Given the description of an element on the screen output the (x, y) to click on. 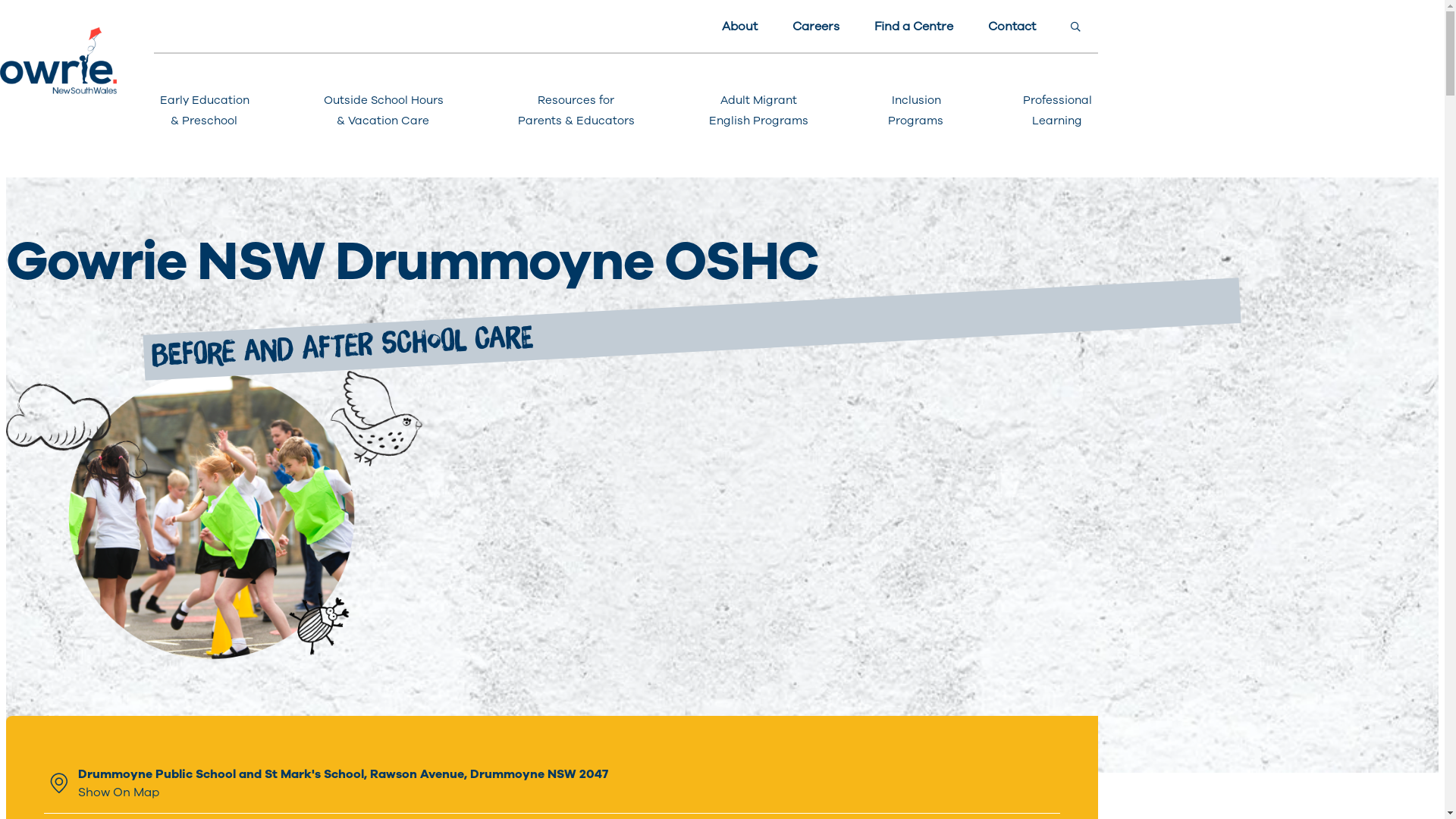
Contact Element type: text (1011, 26)
Early Education
& Preschool Element type: text (204, 109)
Find a Centre Element type: text (913, 26)
Professional
Learning Element type: text (1057, 109)
Resources for
Parents & Educators Element type: text (575, 109)
Inclusion
Programs Element type: text (915, 109)
Outside School Hours
& Vacation Care Element type: text (383, 109)
Adult Migrant
English Programs Element type: text (758, 109)
Careers Element type: text (815, 26)
Show On Map Element type: text (343, 792)
About Element type: text (739, 26)
